Given the description of an element on the screen output the (x, y) to click on. 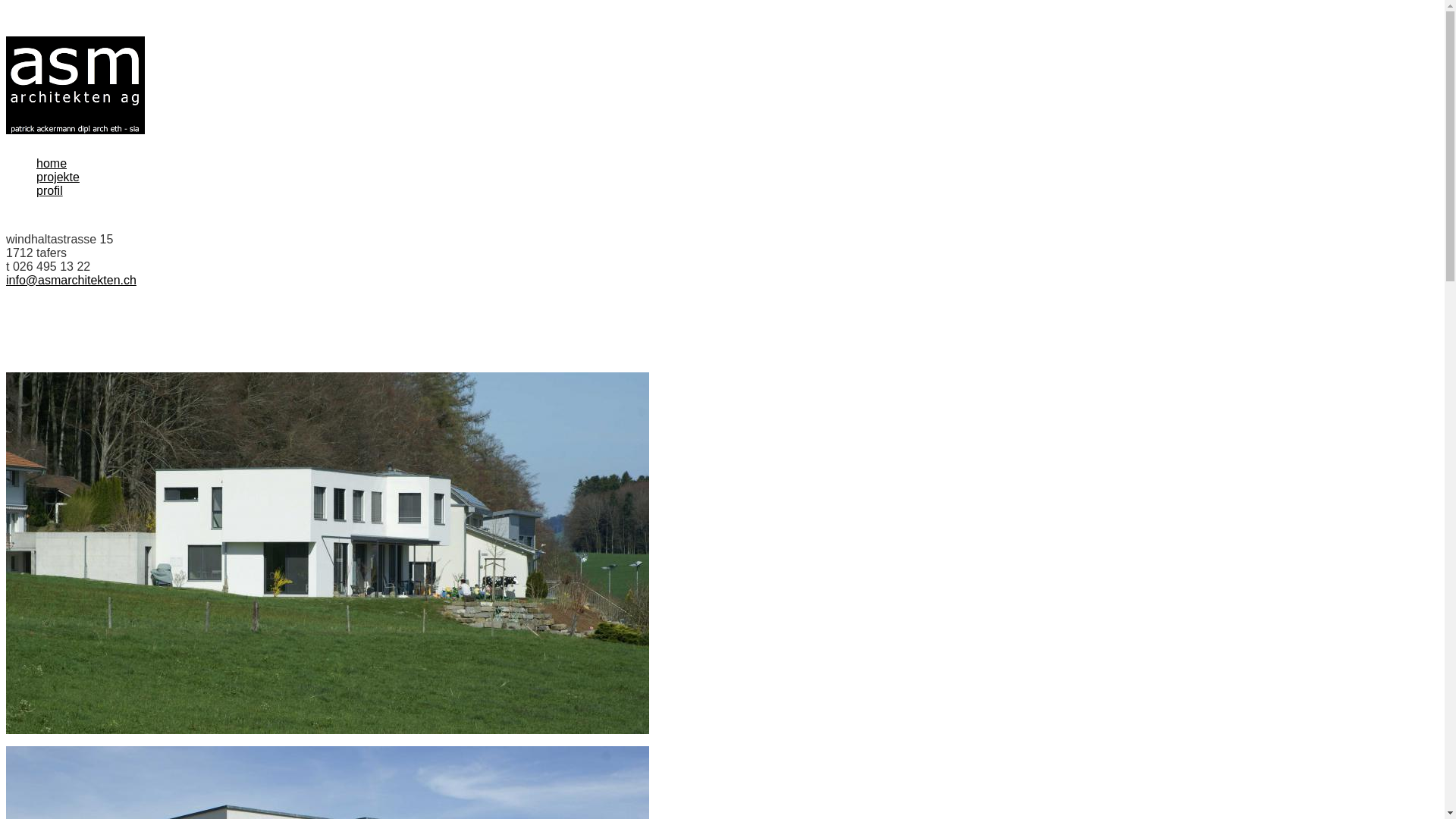
Startseite Element type: hover (75, 85)
Direkt zum Inhalt Element type: text (6, 36)
projekte Element type: text (57, 176)
info@asmarchitekten.ch Element type: text (71, 279)
EFH Magdalenastrasse-2 Element type: hover (327, 553)
home Element type: text (51, 162)
profil Element type: text (49, 190)
